Given the description of an element on the screen output the (x, y) to click on. 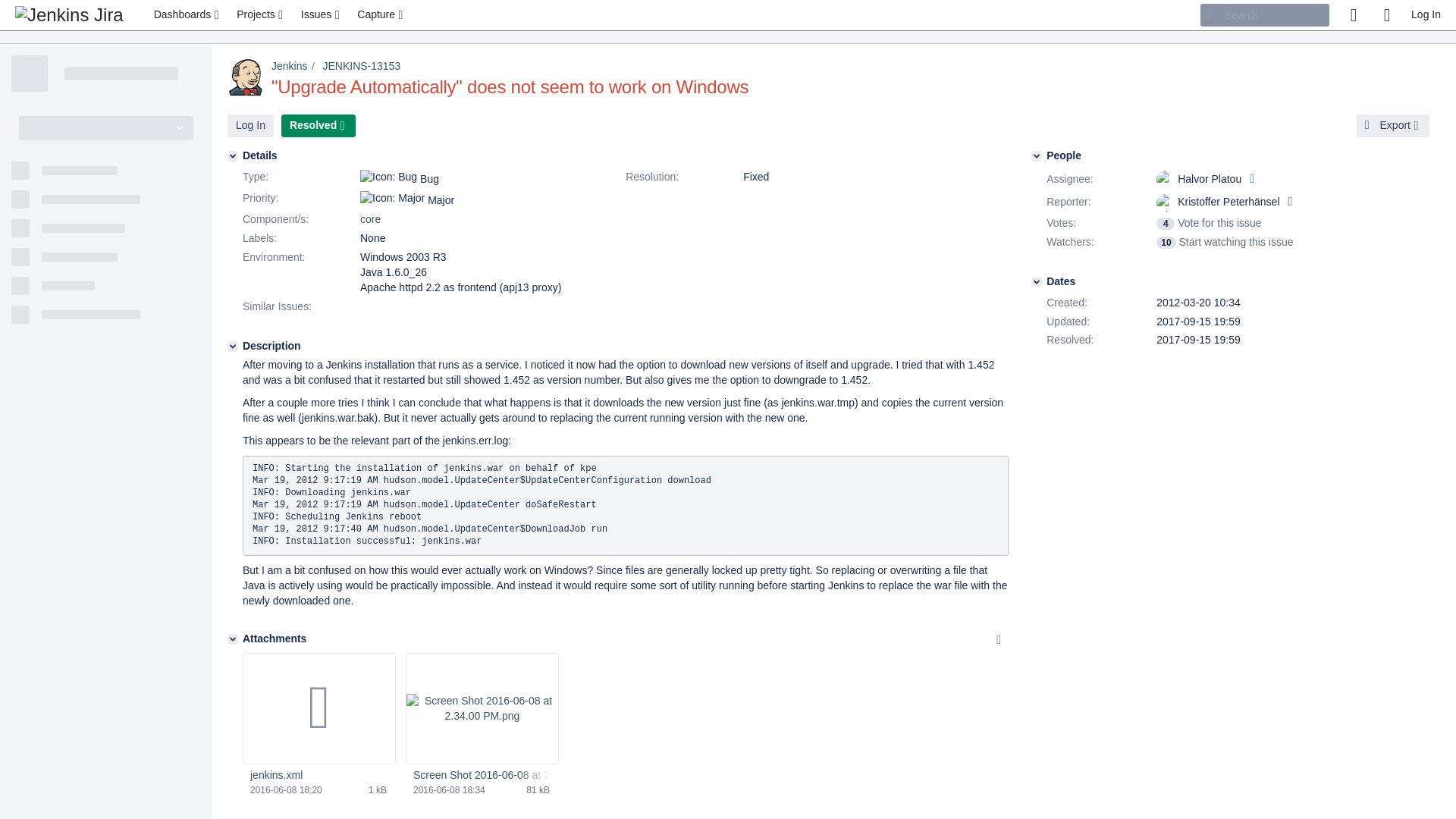
Export (1392, 125)
Export this issue in another format (1392, 125)
Give feedback to Atlassian (1353, 15)
JENKINS-13153 (360, 65)
jenkins.xml (318, 775)
Capture (381, 15)
Capture (381, 15)
Jenkins (288, 65)
Search for issues and view recent issues (321, 15)
Major - Major loss of function. (392, 198)
View and manage your dashboards (188, 15)
Issues (321, 15)
core (369, 218)
Resolution (682, 177)
Help (1386, 15)
